Given the description of an element on the screen output the (x, y) to click on. 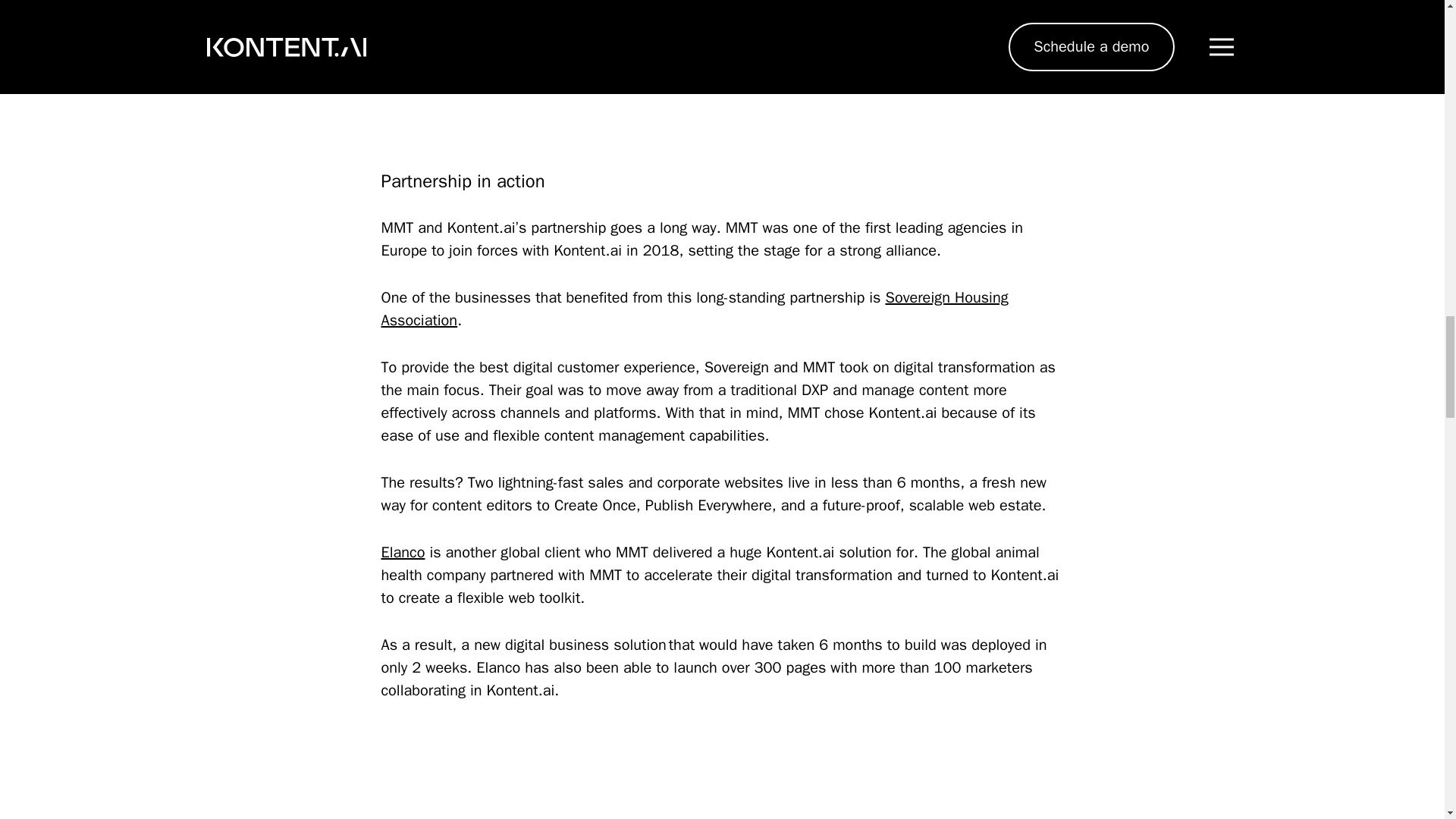
Sovereign Housing Association (693, 309)
Elanco (402, 551)
